Given the description of an element on the screen output the (x, y) to click on. 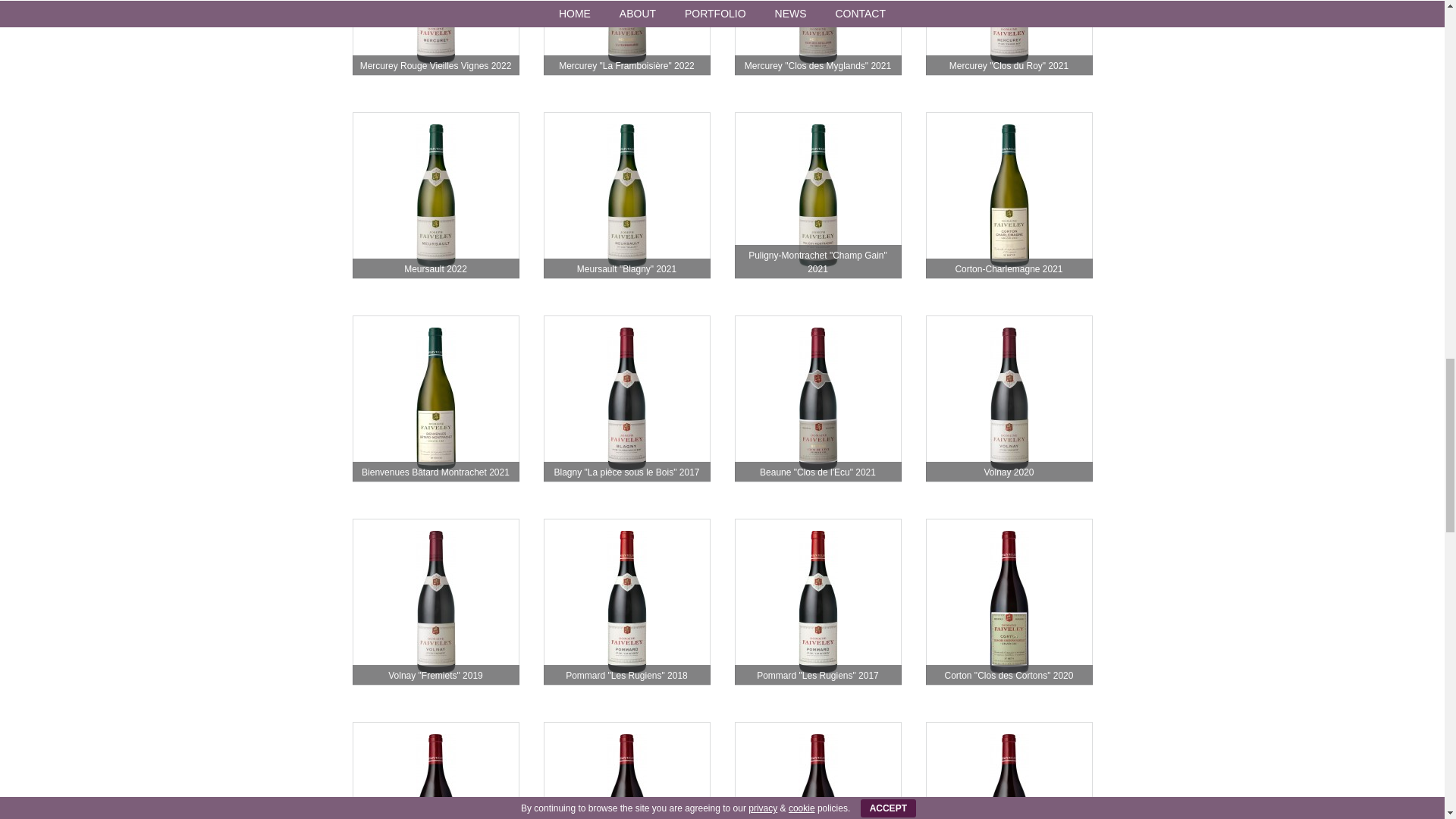
Mercurey  (817, 38)
Mercurey "Clos des Myglands" 2021 (817, 38)
Blagny  (626, 398)
Mercurey  (1008, 38)
Mercurey "Clos du Roy" 2021 (1008, 38)
Corton "Clos des Cortons" 2016 (817, 770)
Mercurey  (626, 38)
Corton-Charlemagne 2021 (1008, 195)
Puligny-Montrachet  (817, 195)
Beaune  (817, 398)
